Given the description of an element on the screen output the (x, y) to click on. 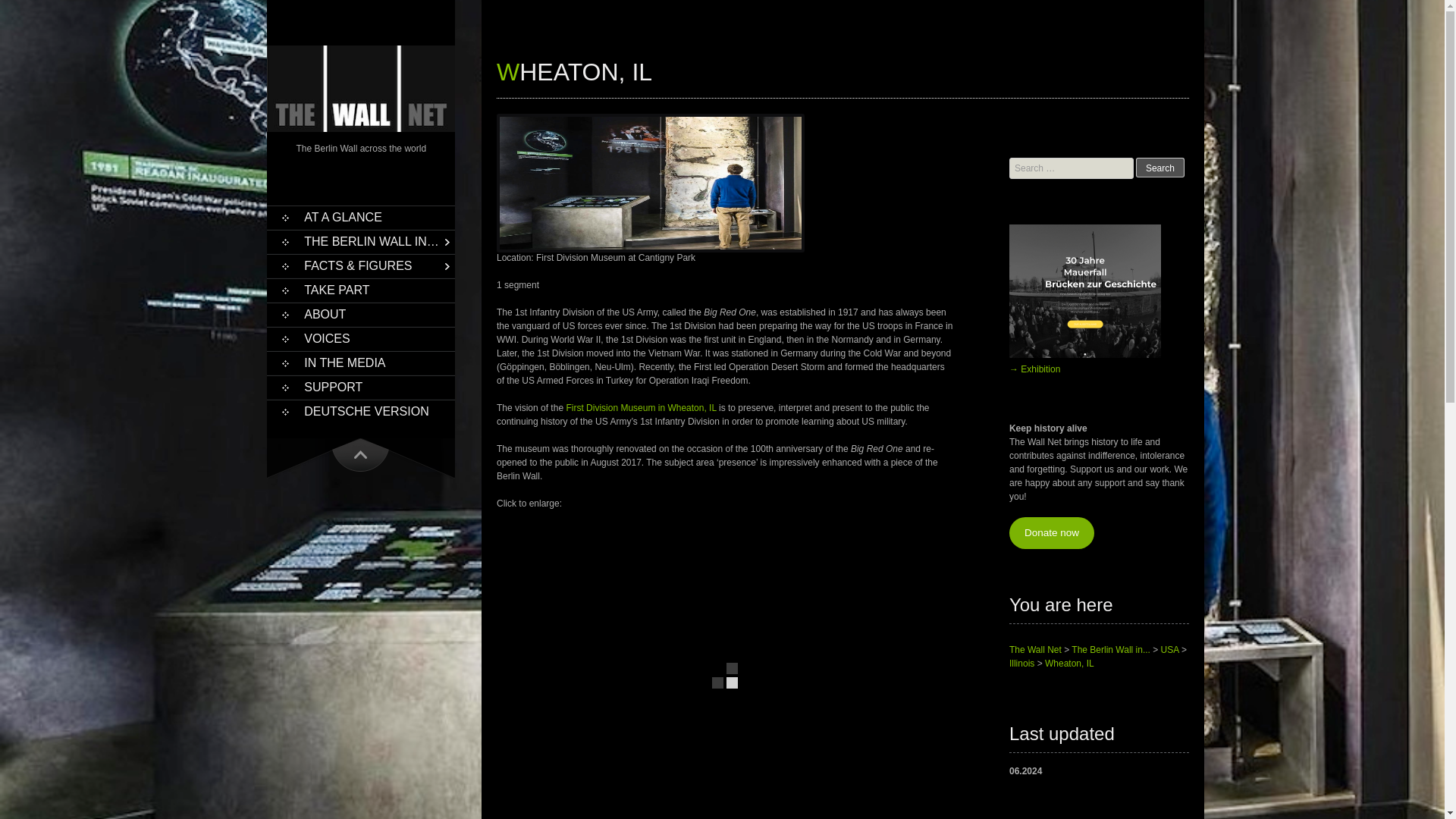
Search (1160, 167)
Go to The Wall Net. (1035, 649)
SKIP TO CONTENT (295, 224)
Go to Wheaton, IL. (1069, 663)
AT A GLANCE (360, 217)
Search (1160, 167)
Go to the Illinois category archives. (1021, 663)
Go to the The Berlin Wall in... category archives. (1110, 649)
Go to the USA category archives. (1169, 649)
